Given the description of an element on the screen output the (x, y) to click on. 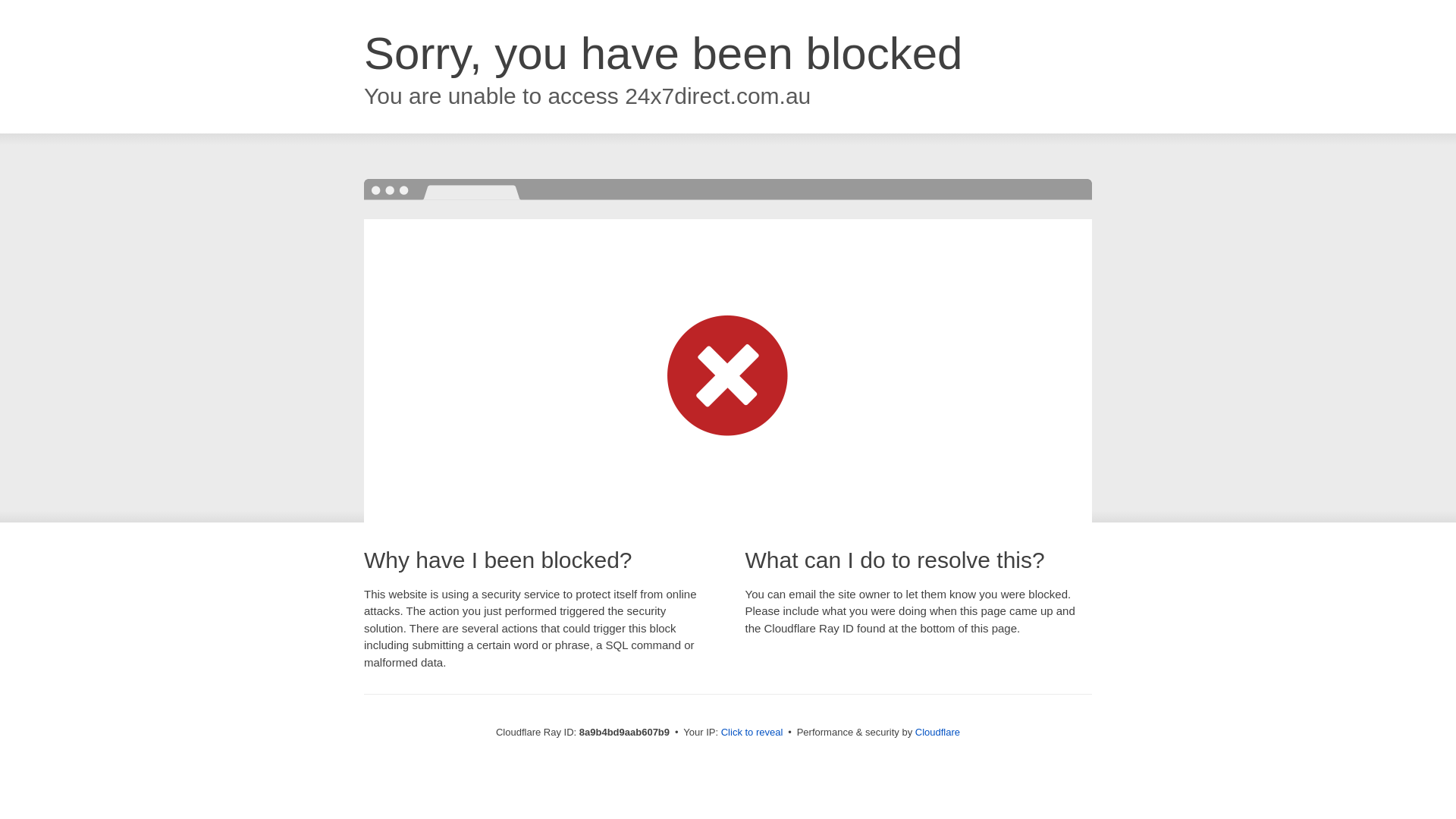
Click to reveal (751, 732)
Cloudflare (937, 731)
